Given the description of an element on the screen output the (x, y) to click on. 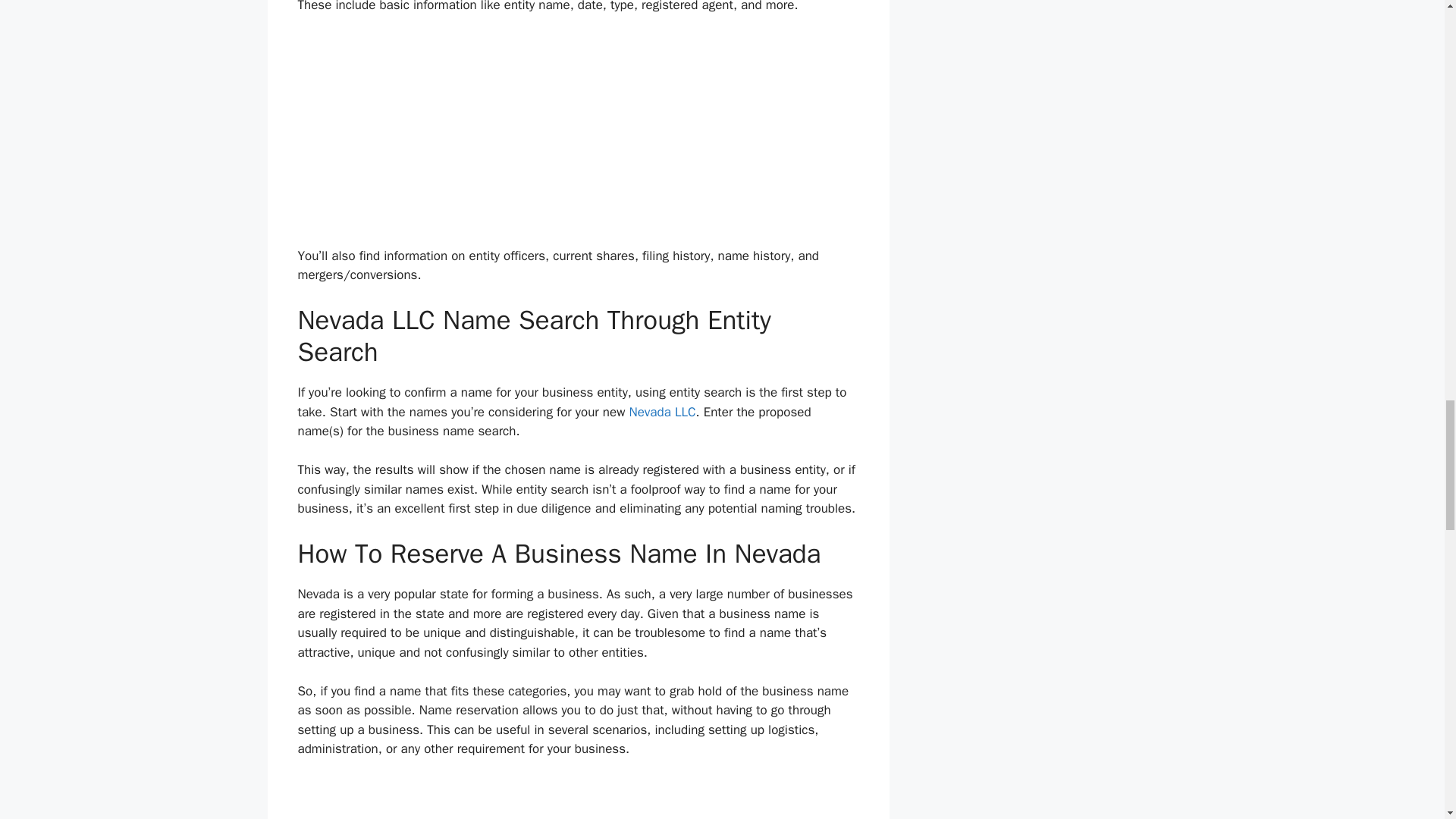
Nevada LLC (661, 412)
